Given the description of an element on the screen output the (x, y) to click on. 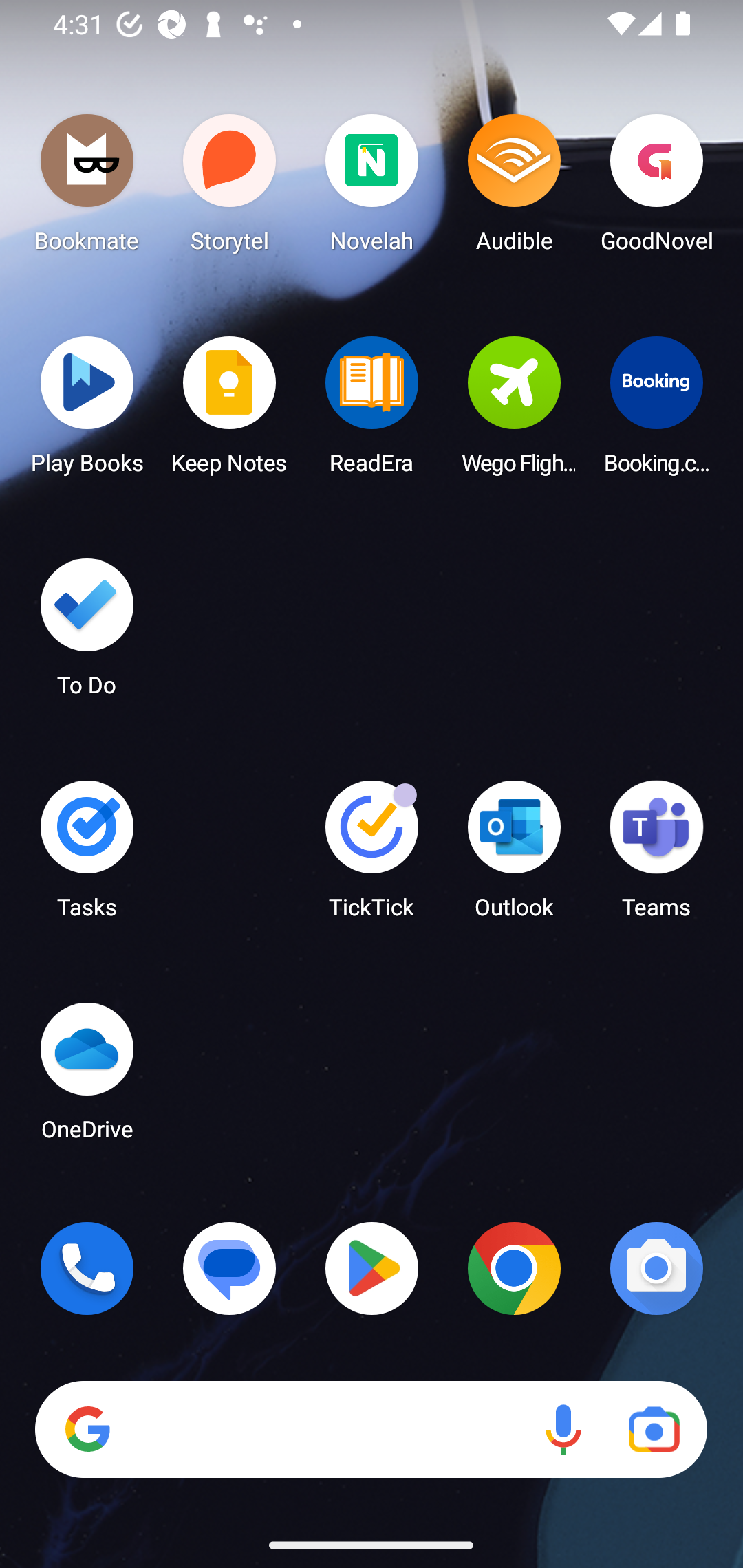
Bookmate (86, 188)
Storytel (229, 188)
Novelah (371, 188)
Audible (513, 188)
GoodNovel (656, 188)
Play Books (86, 410)
Keep Notes (229, 410)
ReadEra (371, 410)
Wego Flights & Hotels (513, 410)
Booking.com (656, 410)
To Do (86, 633)
Tasks (86, 854)
TickTick TickTick has 3 notifications (371, 854)
Outlook (513, 854)
Teams (656, 854)
OneDrive (86, 1076)
Phone (86, 1268)
Messages (229, 1268)
Play Store (371, 1268)
Chrome (513, 1268)
Camera (656, 1268)
Voice search (562, 1429)
Google Lens (653, 1429)
